Given the description of an element on the screen output the (x, y) to click on. 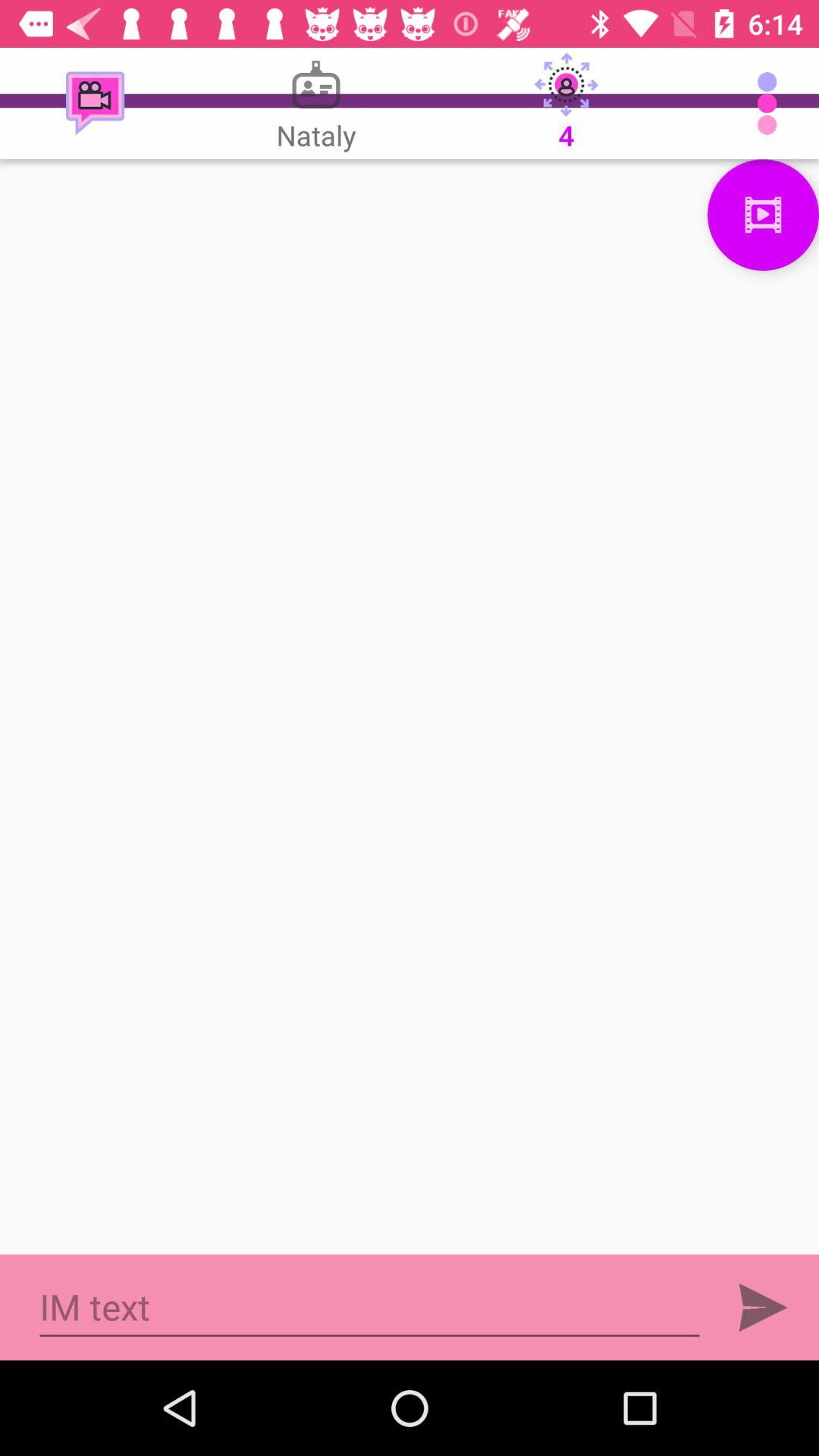
insert message (369, 1307)
